Given the description of an element on the screen output the (x, y) to click on. 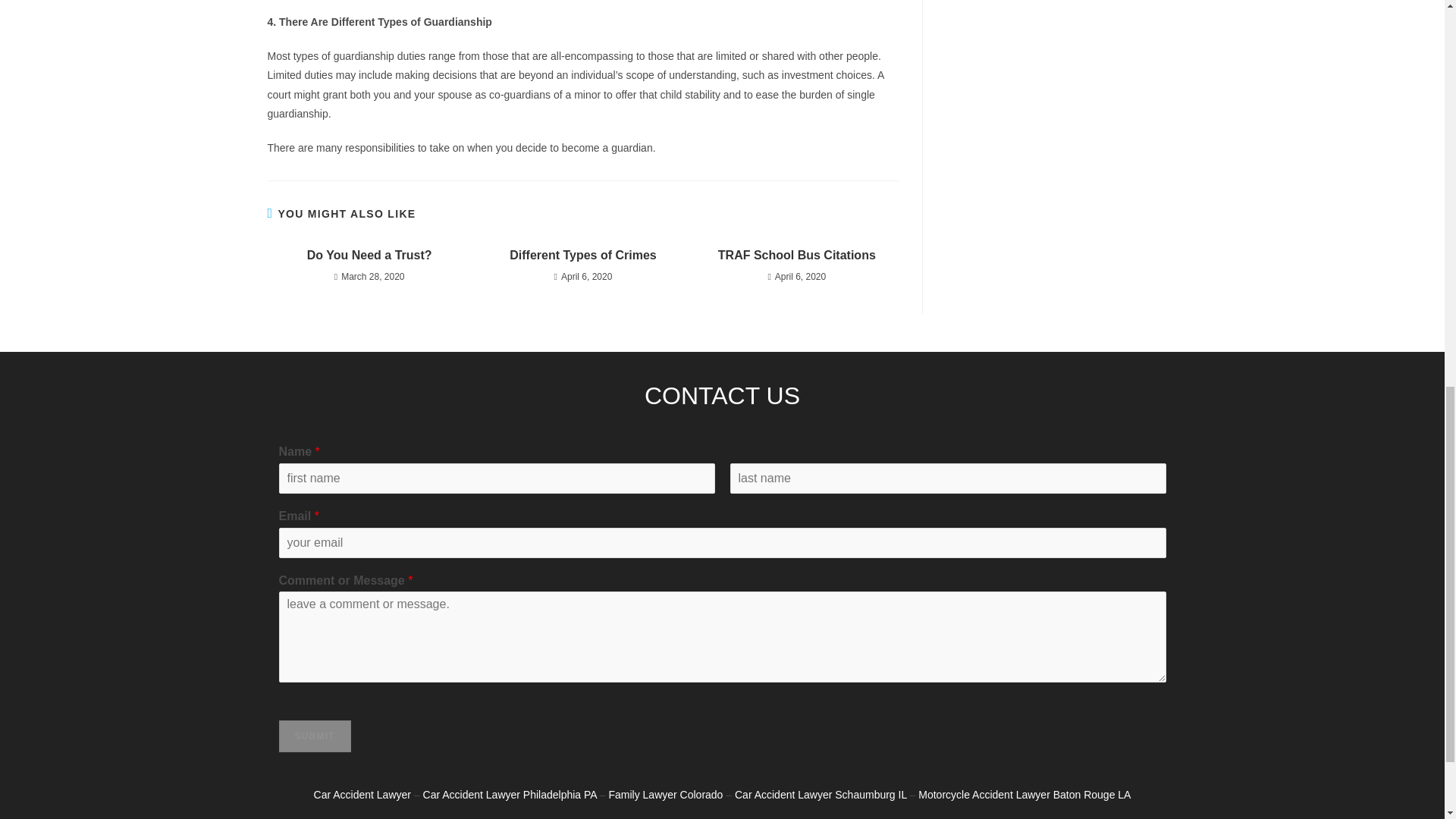
Car Accident Lawyer (362, 794)
Different Types of Crimes (582, 255)
Car Accident Lawyer Philadelphia PA (509, 794)
Family Lawyer Colorado (665, 794)
Motorcycle Accident Lawyer Baton Rouge LA (1024, 794)
Do You Need a Trust? (368, 255)
Car Accident Lawyer Schaumburg IL (821, 794)
TRAF School Bus Citations (796, 255)
SUBMIT (314, 736)
